Given the description of an element on the screen output the (x, y) to click on. 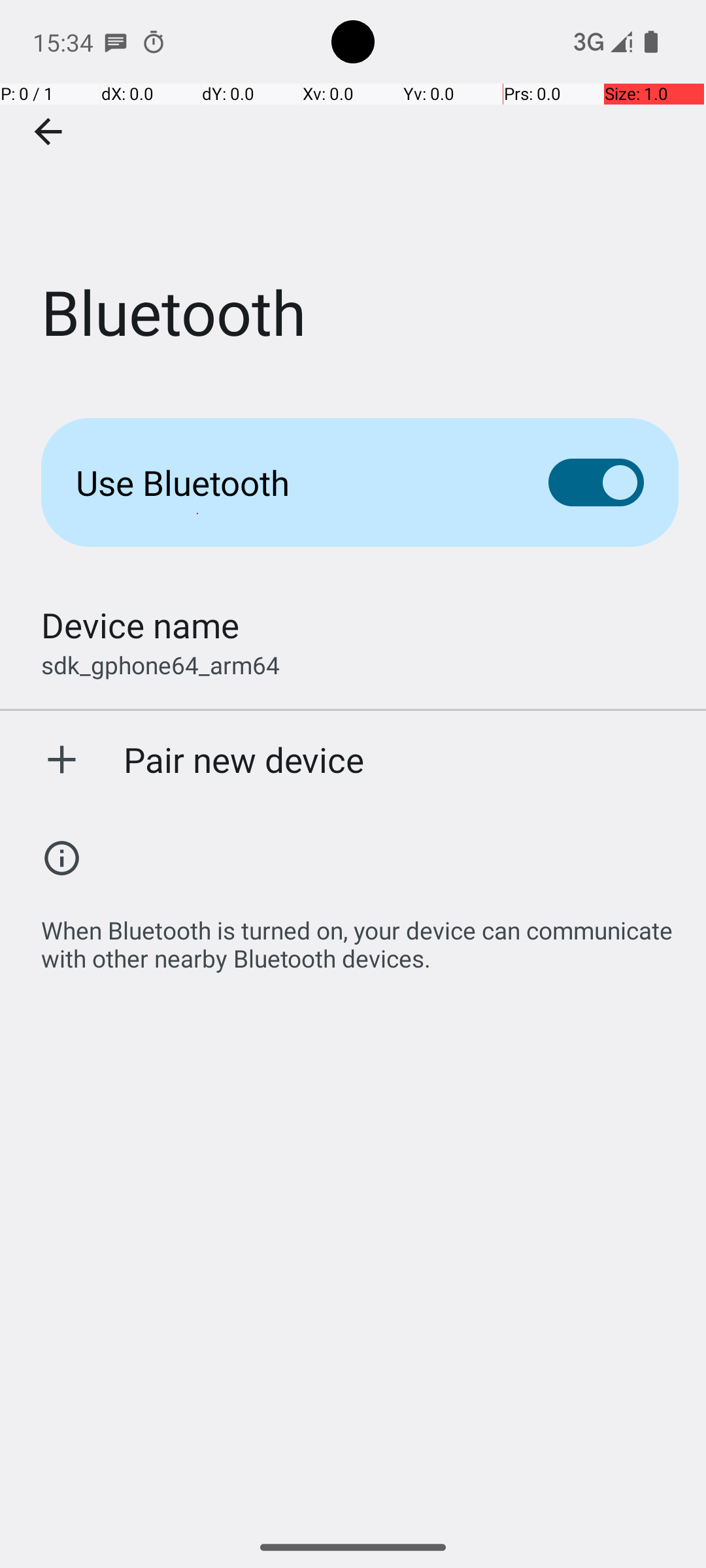
Bluetooth Element type: android.widget.FrameLayout (353, 195)
Use Bluetooth Element type: android.widget.TextView (291, 482)
When Bluetooth is turned on, your device can communicate with other nearby Bluetooth devices. Element type: android.widget.TextView (359, 936)
